Given the description of an element on the screen output the (x, y) to click on. 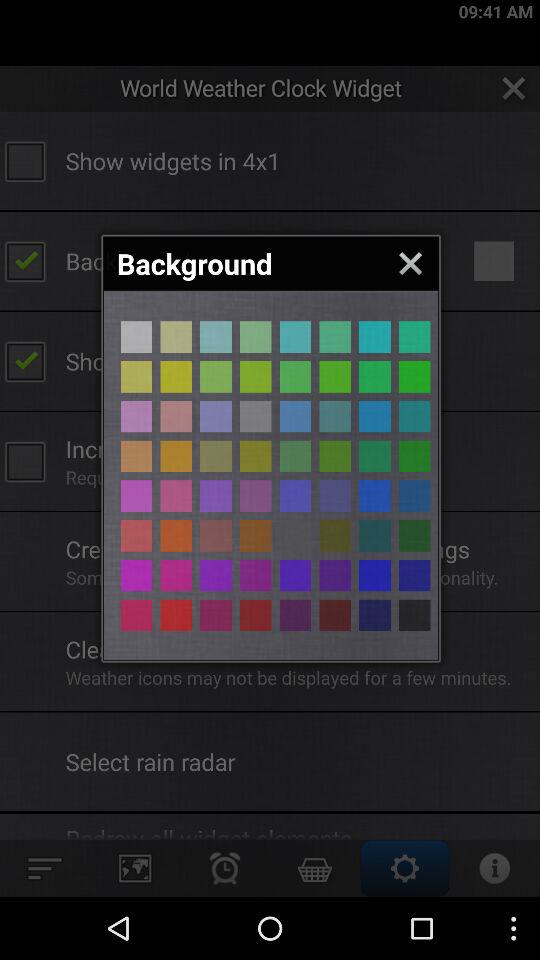
blue colour (215, 336)
